Given the description of an element on the screen output the (x, y) to click on. 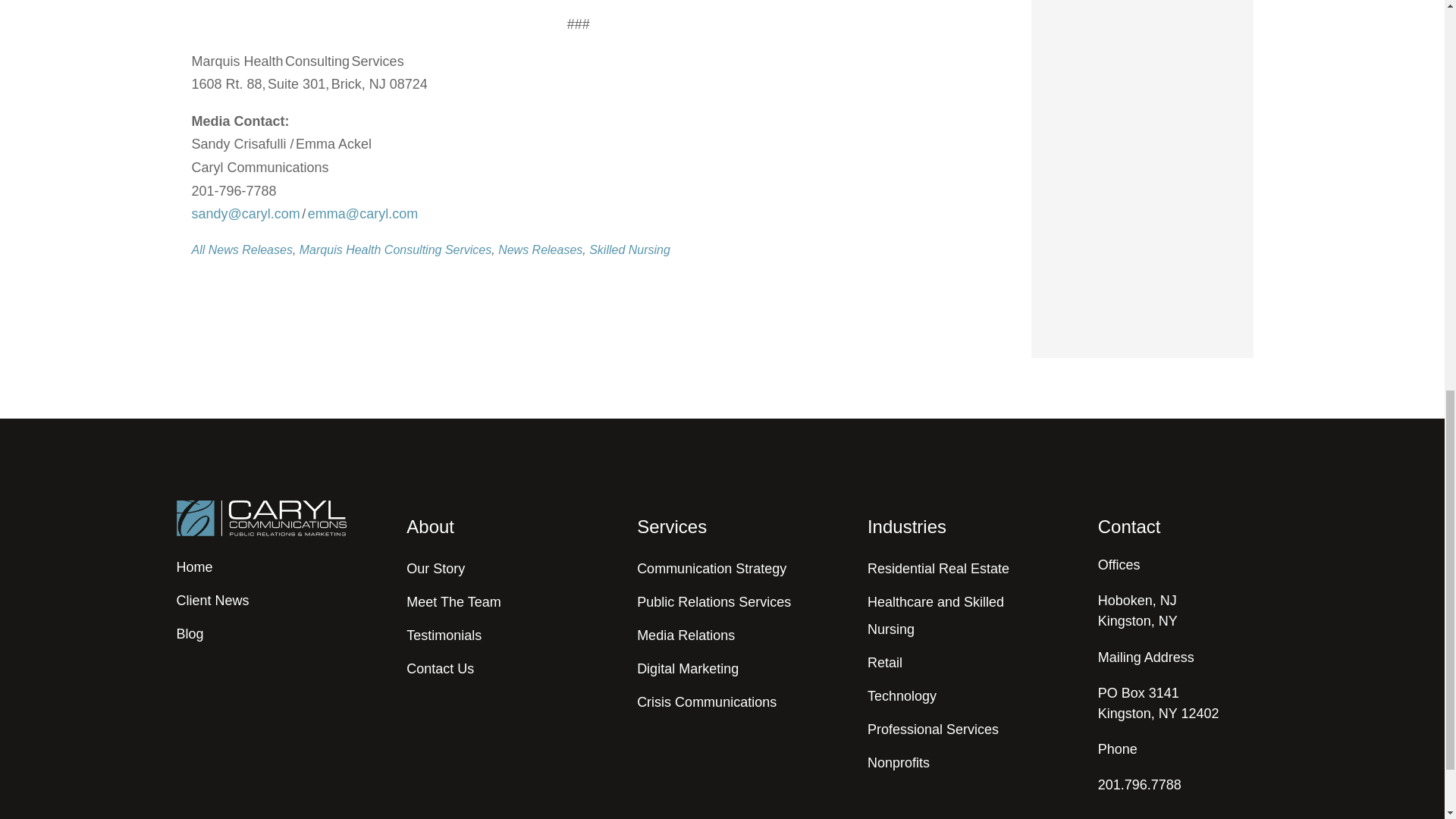
Caryl-Logo-white (261, 518)
